Given the description of an element on the screen output the (x, y) to click on. 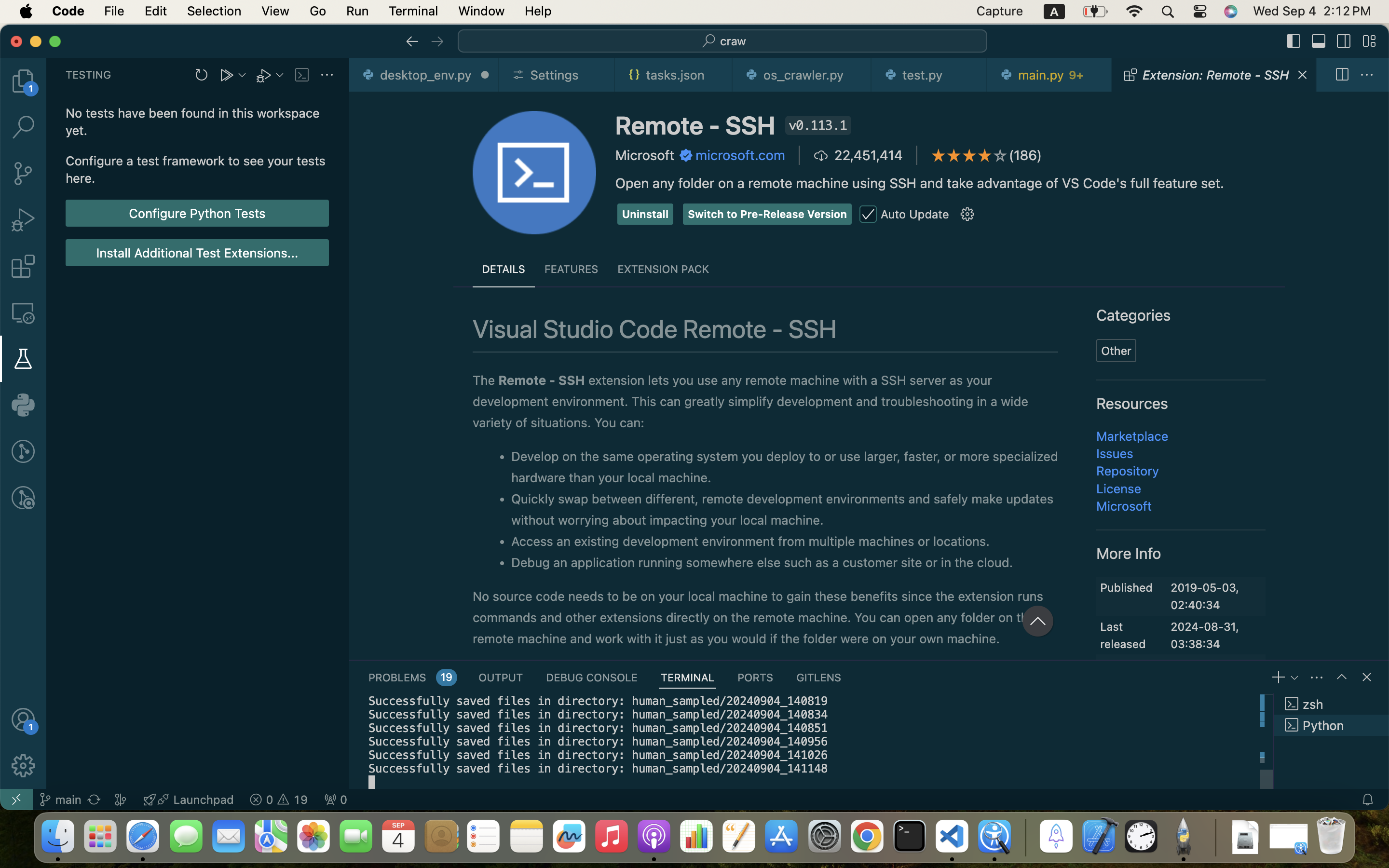
 Element type: AXButton (967, 214)
0  Element type: AXRadioButton (23, 219)
 Element type: AXStaticText (999, 154)
 Element type: AXStaticText (938, 154)
More Info Element type: AXStaticText (1128, 552)
